Given the description of an element on the screen output the (x, y) to click on. 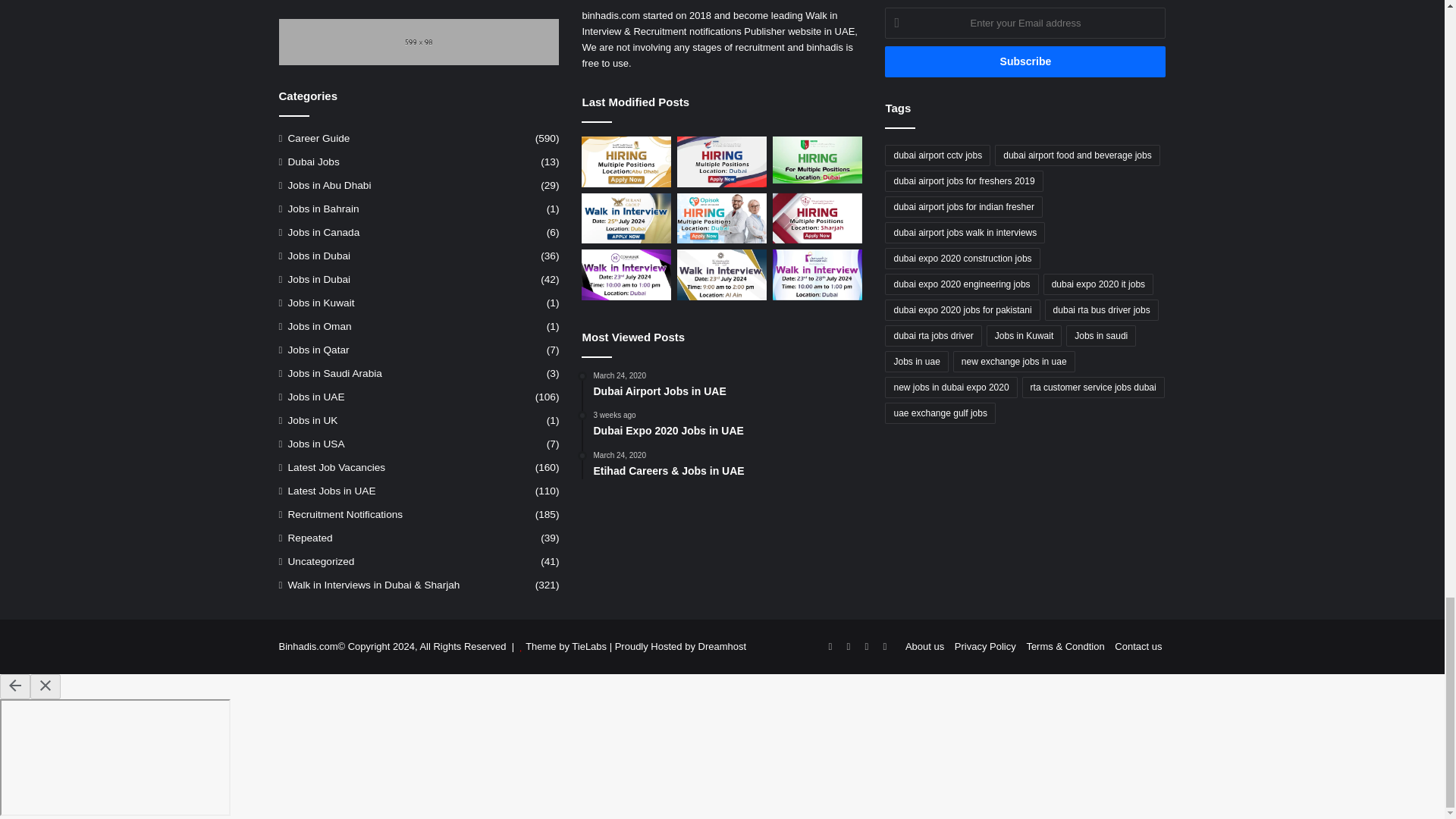
Subscribe (1025, 60)
